Given the description of an element on the screen output the (x, y) to click on. 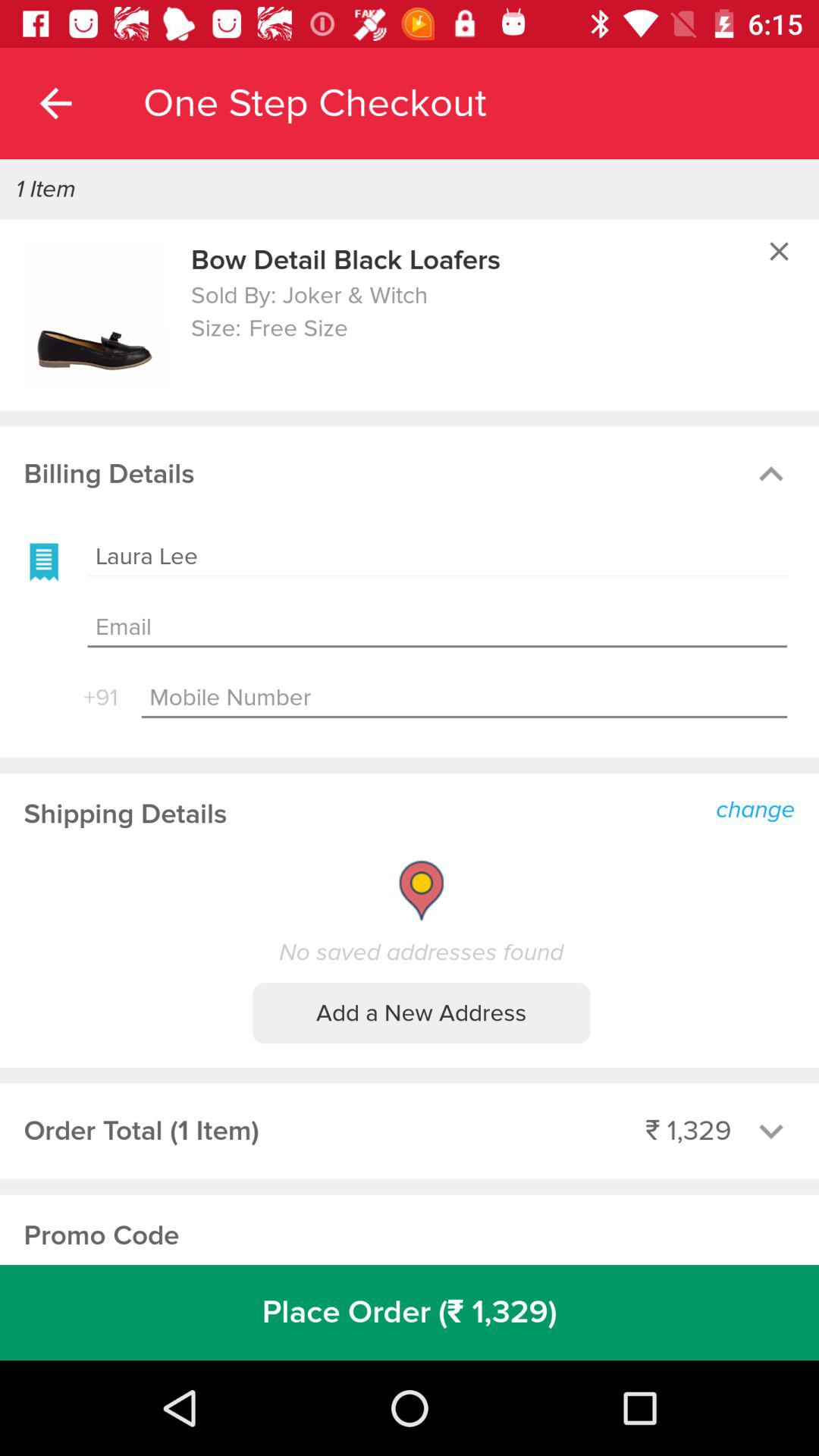
launch the app to the left of one step checkout app (55, 103)
